Given the description of an element on the screen output the (x, y) to click on. 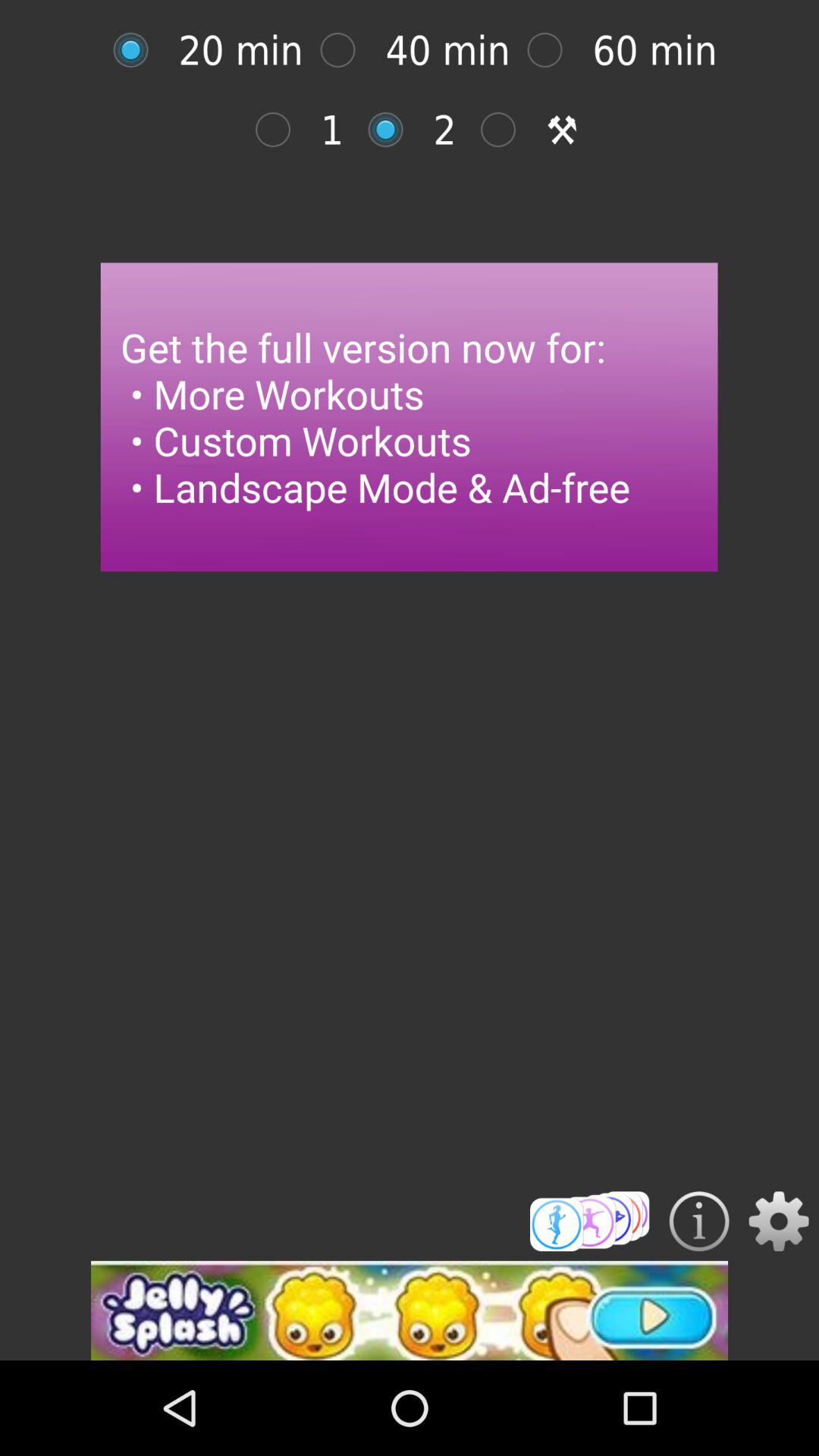
select choice beside 1 (393, 130)
